Given the description of an element on the screen output the (x, y) to click on. 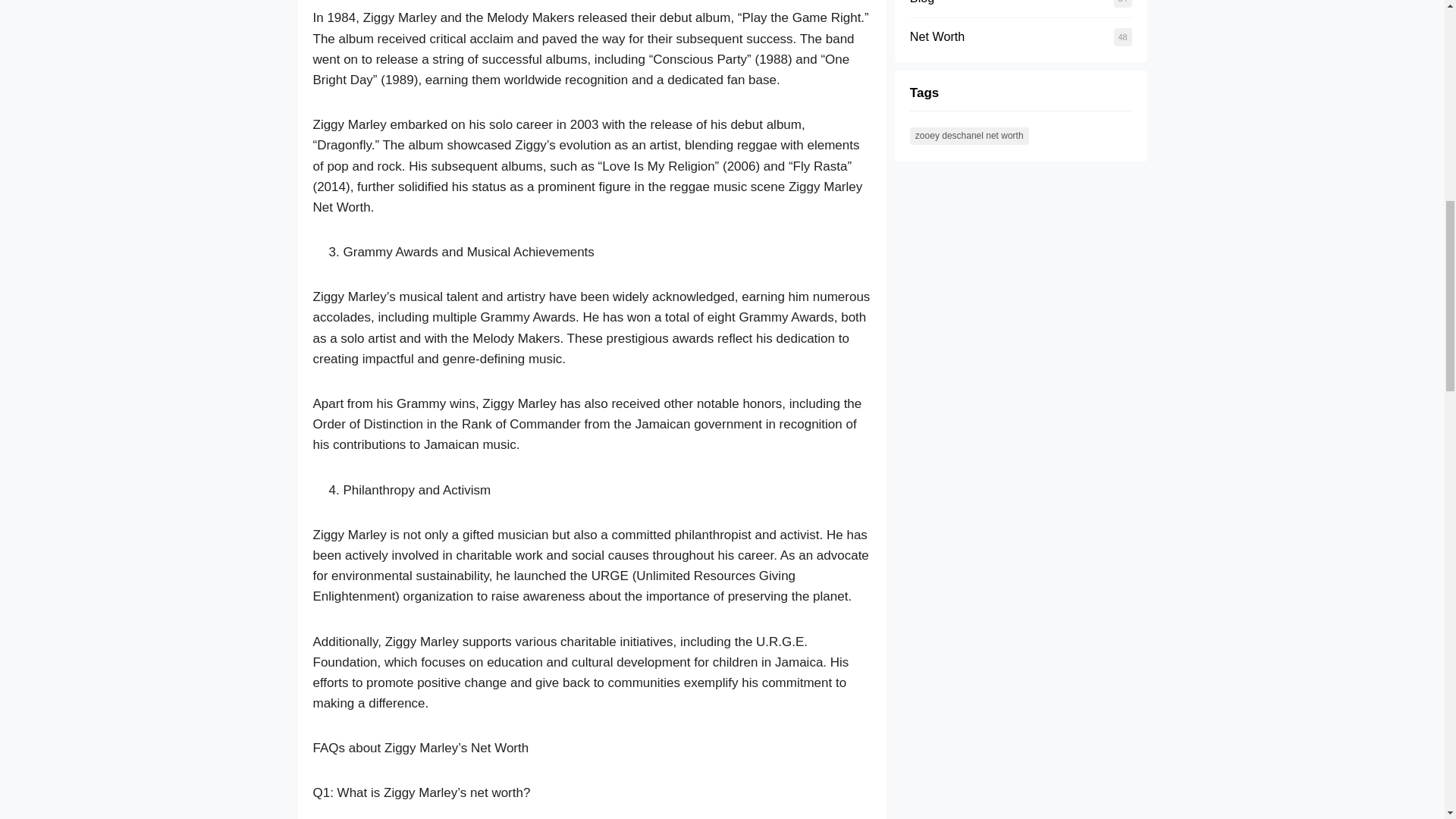
Blog (922, 2)
Net Worth (936, 36)
zooey deschanel net worth (969, 135)
